Given the description of an element on the screen output the (x, y) to click on. 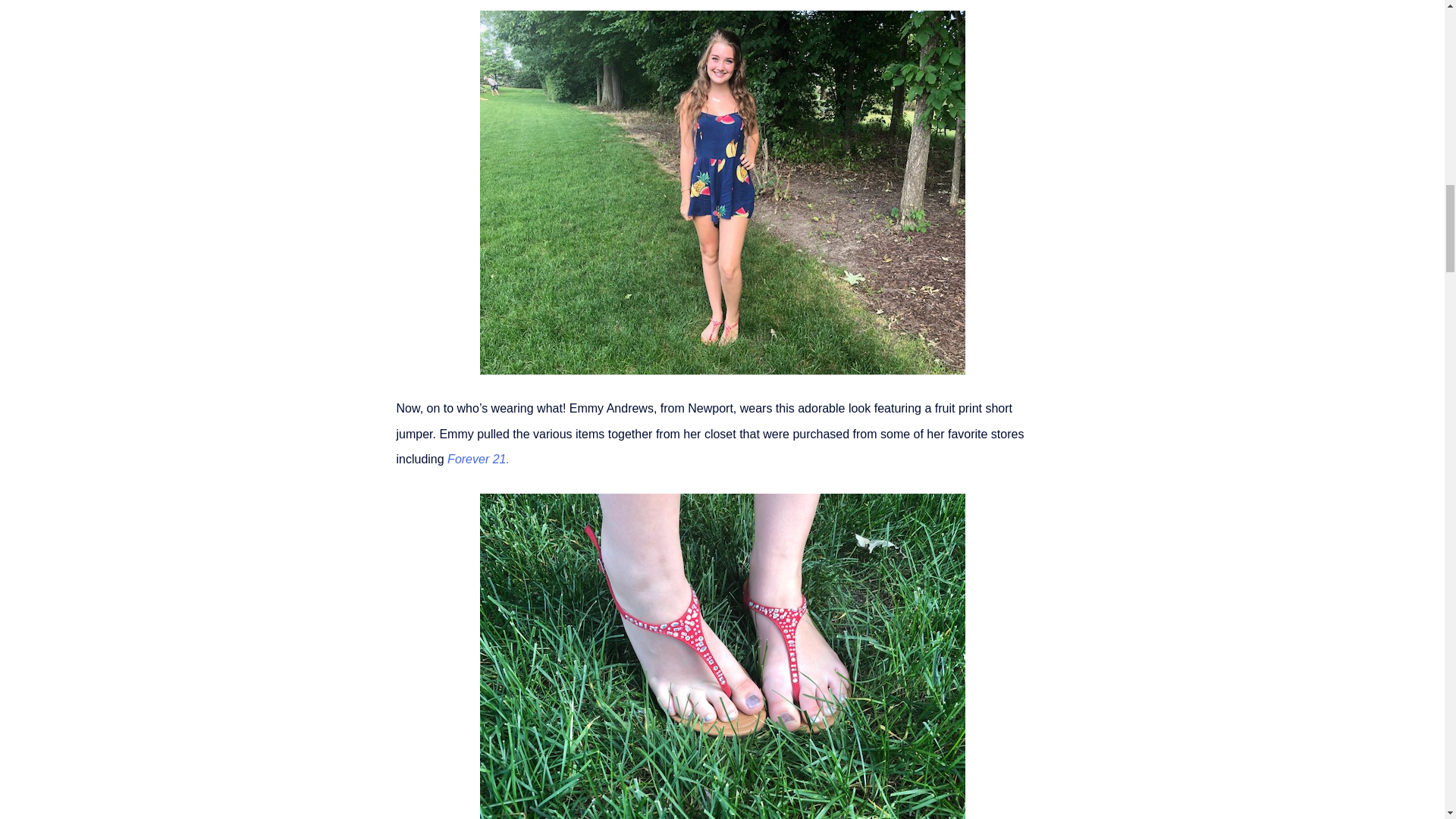
Forever 21.  (479, 459)
